Given the description of an element on the screen output the (x, y) to click on. 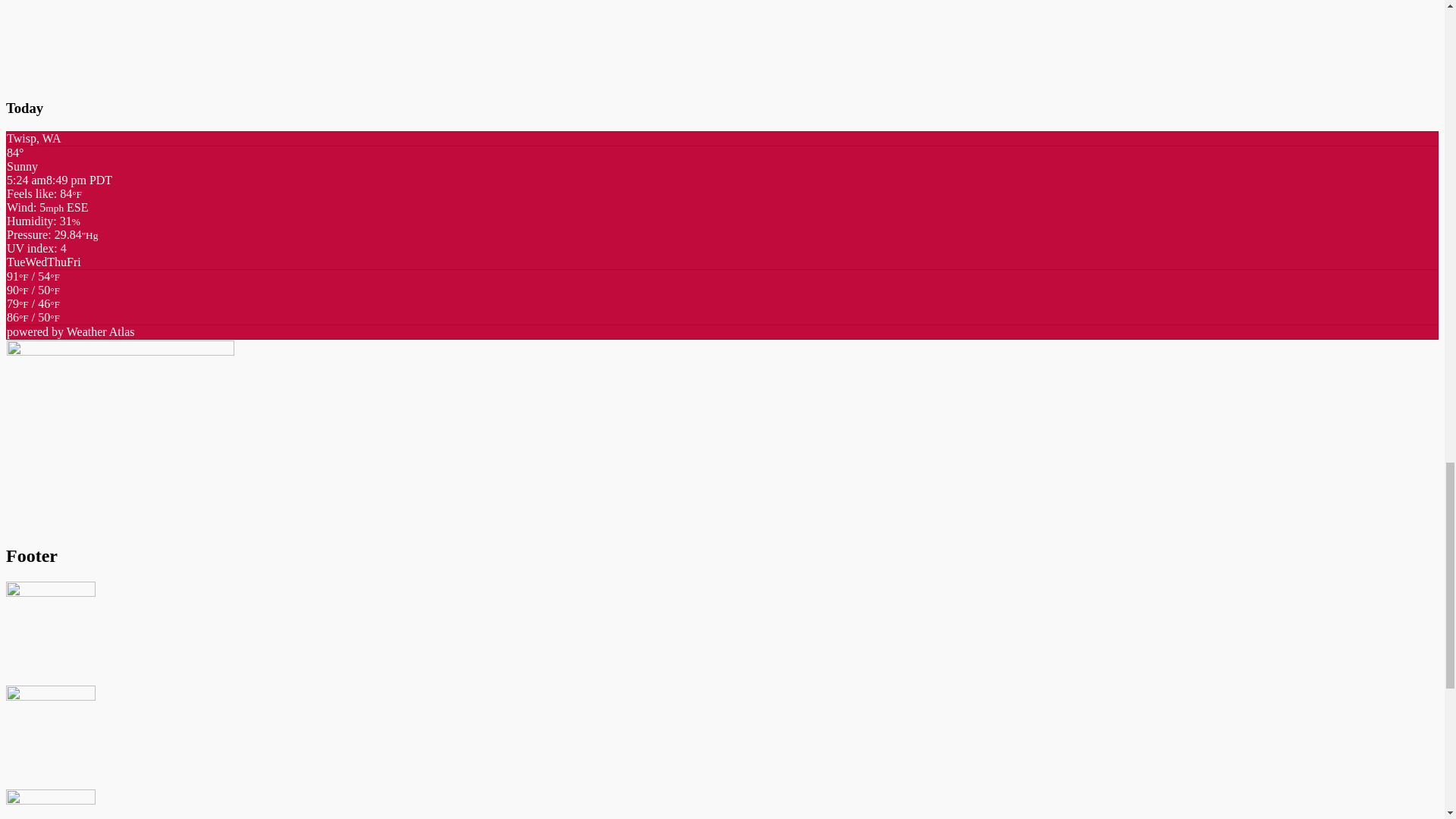
Mostly Sunny (33, 296)
Sunny (33, 310)
Sunny (33, 283)
Mostly Sunny (33, 317)
